Given the description of an element on the screen output the (x, y) to click on. 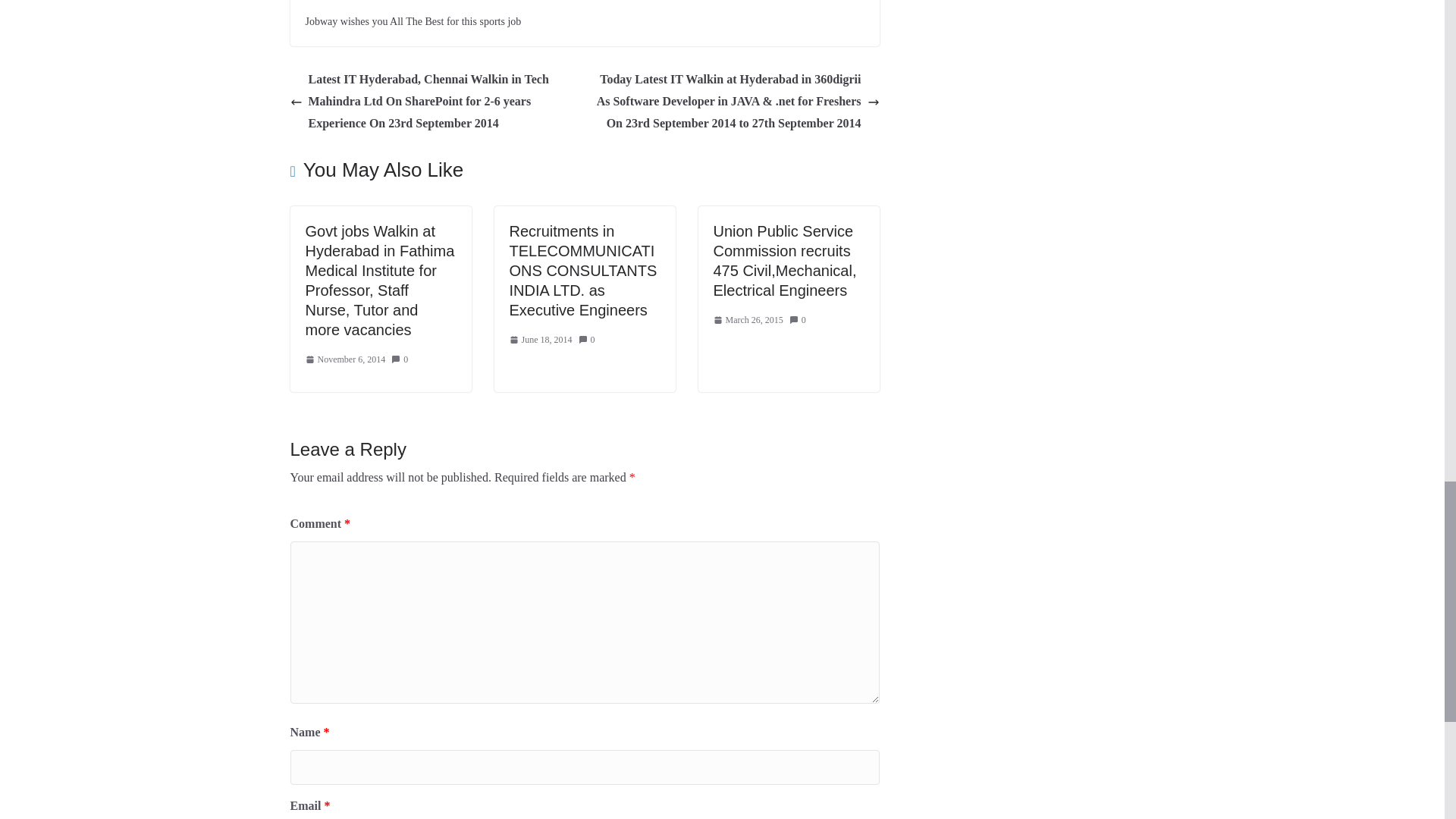
November 6, 2014 (344, 360)
1:33 pm (344, 360)
6:27 pm (540, 340)
June 18, 2014 (540, 340)
